Given the description of an element on the screen output the (x, y) to click on. 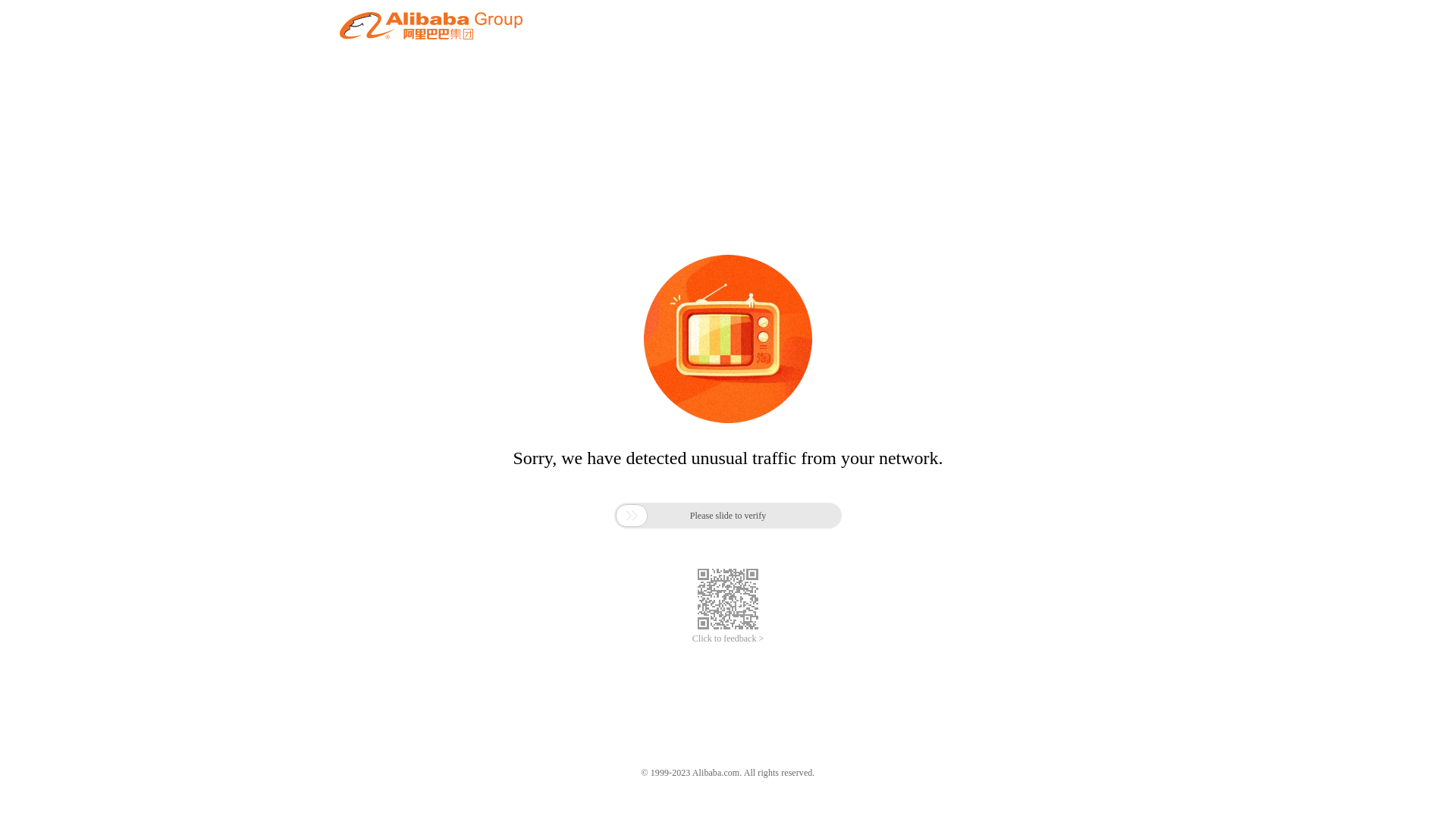
Click to feedback > Element type: text (727, 638)
